Given the description of an element on the screen output the (x, y) to click on. 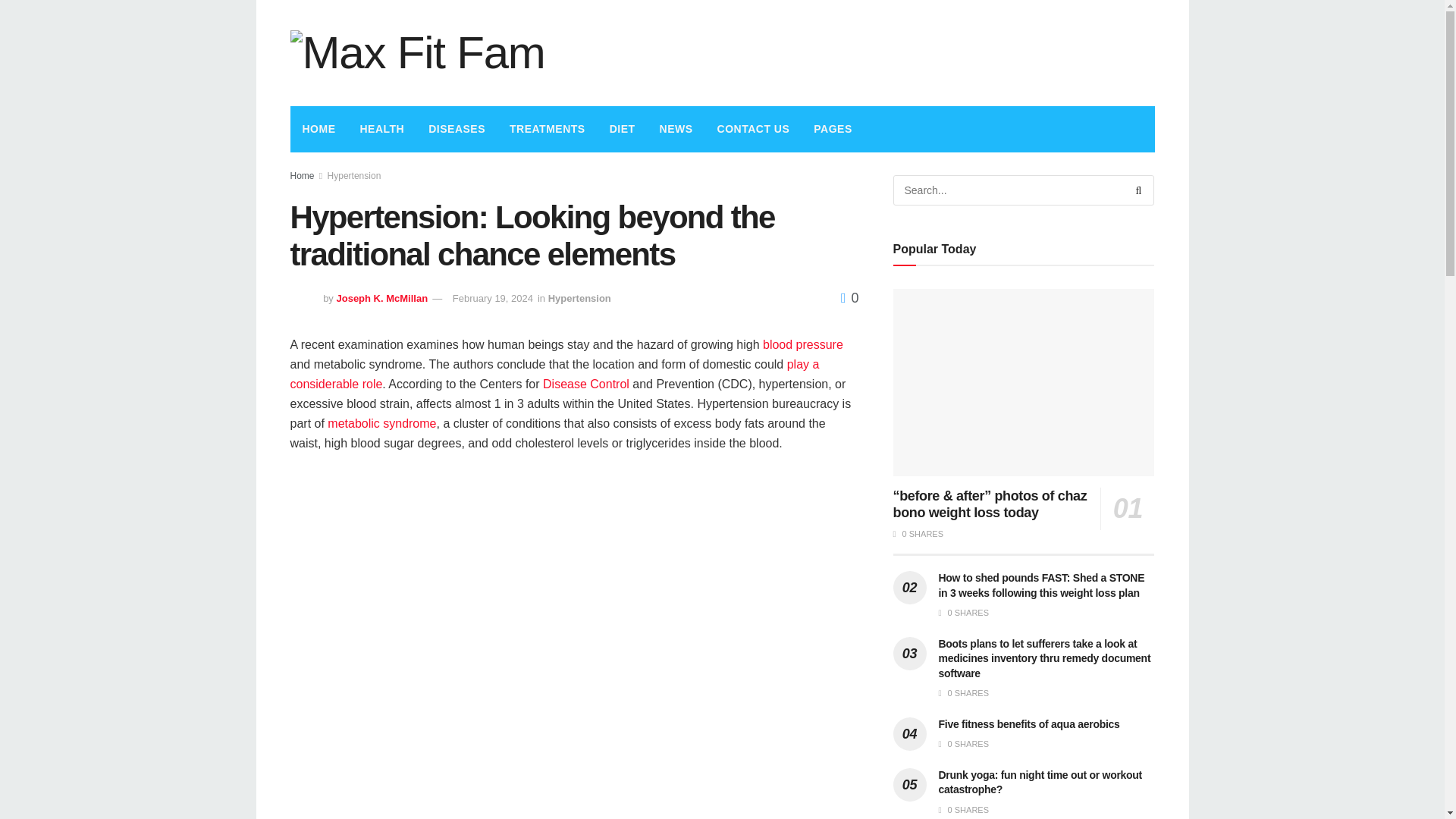
HOME (318, 129)
TREATMENTS (546, 129)
DISEASES (456, 129)
PAGES (832, 129)
NEWS (675, 129)
CONTACT US (753, 129)
HEALTH (381, 129)
DIET (621, 129)
